Given the description of an element on the screen output the (x, y) to click on. 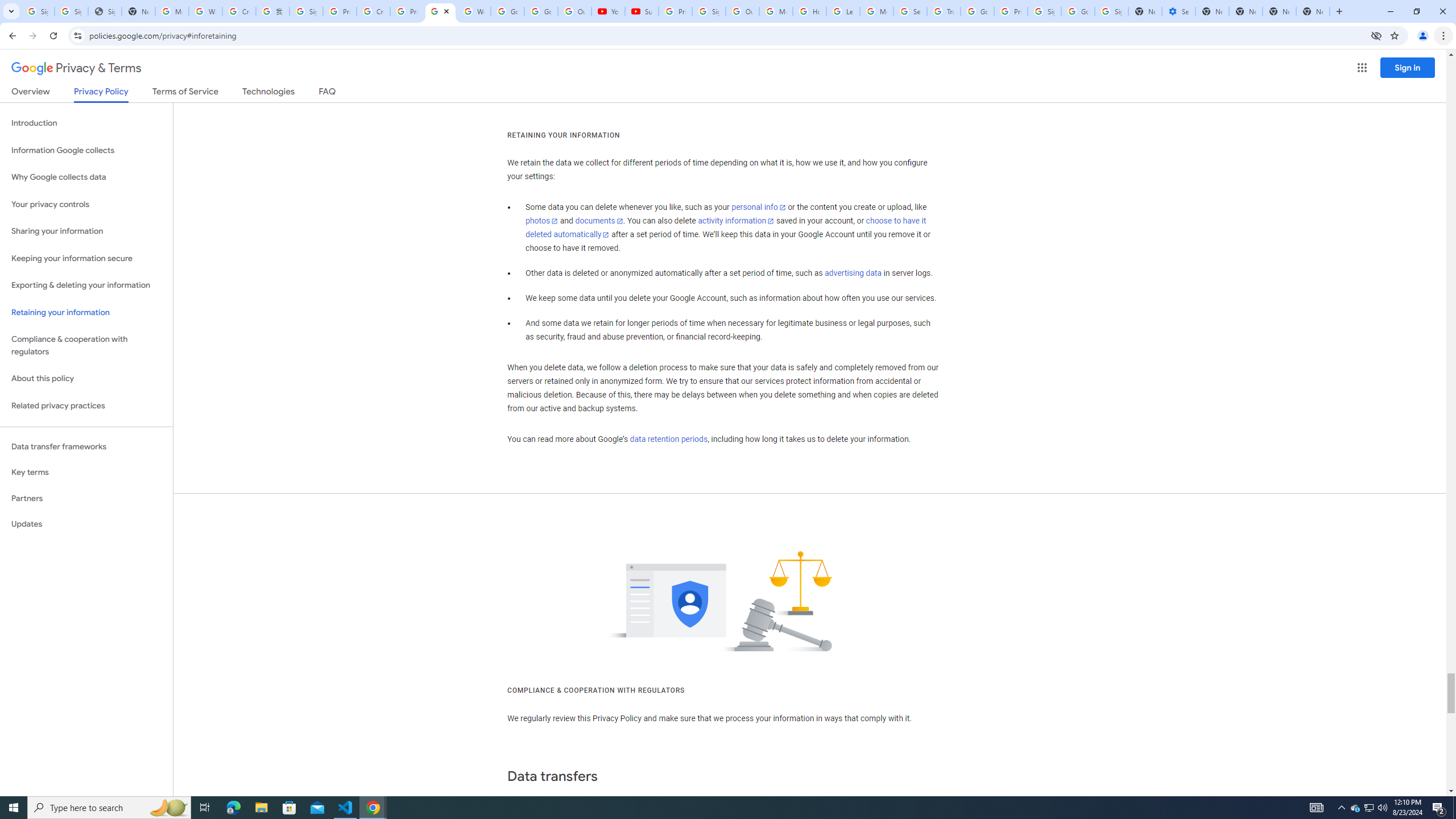
activity information (735, 221)
Retaining your information (86, 312)
Sign in - Google Accounts (37, 11)
personal info (758, 207)
New Tab (1313, 11)
data retention periods (667, 439)
choose to have it deleted automatically (725, 227)
